Given the description of an element on the screen output the (x, y) to click on. 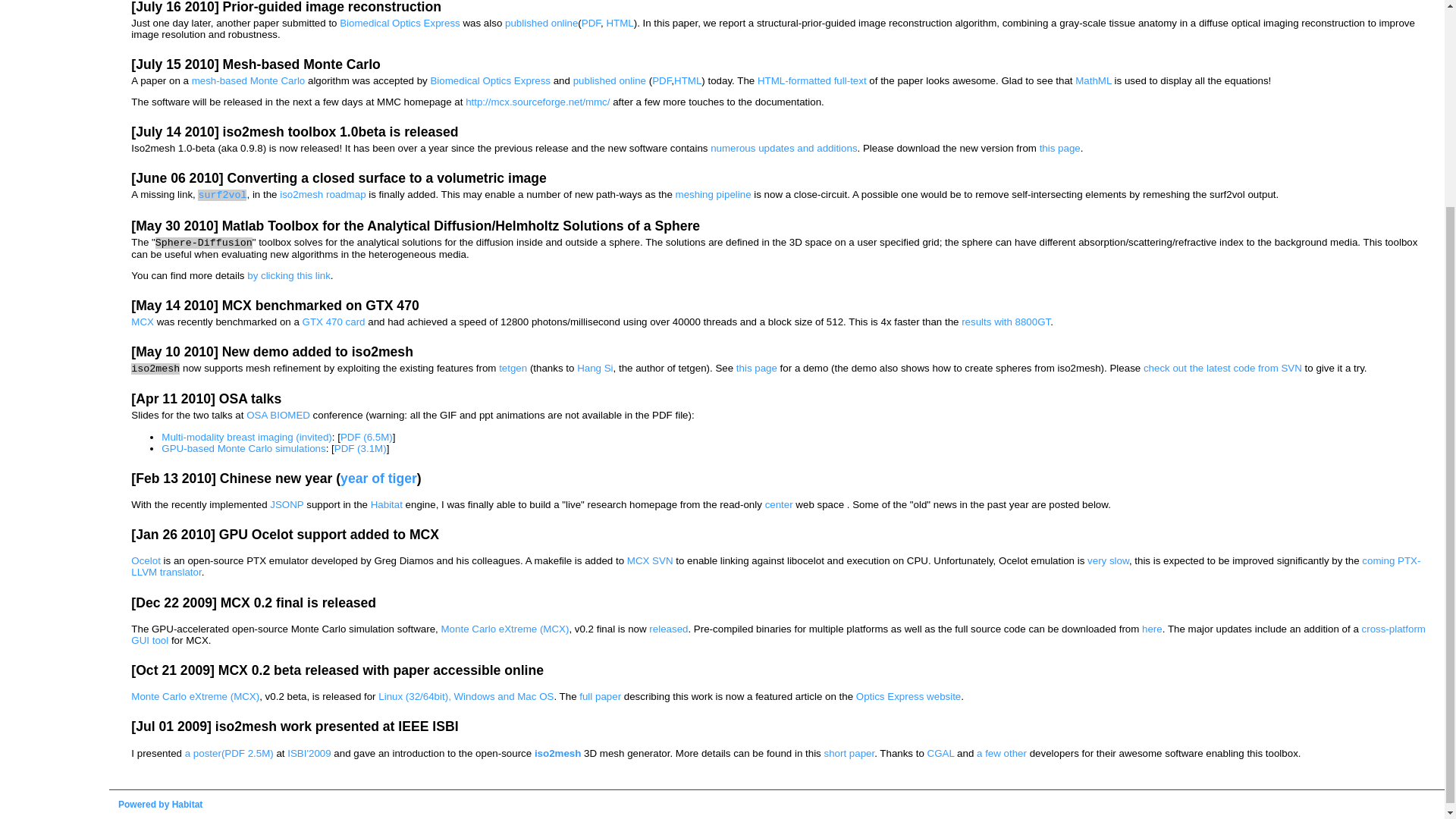
meshing pipeline (713, 194)
Biomedical Optics Express (489, 80)
surf2vol (222, 194)
MCX (142, 321)
published online (609, 80)
published online (541, 22)
numerous updates and additions (783, 147)
PDF (589, 22)
HTML (619, 22)
this page (1059, 147)
iso2mesh roadmap (322, 194)
HTML-formatted full-text (811, 80)
by clicking this link (288, 275)
mesh-based Monte Carlo (248, 80)
MathML (1093, 80)
